Given the description of an element on the screen output the (x, y) to click on. 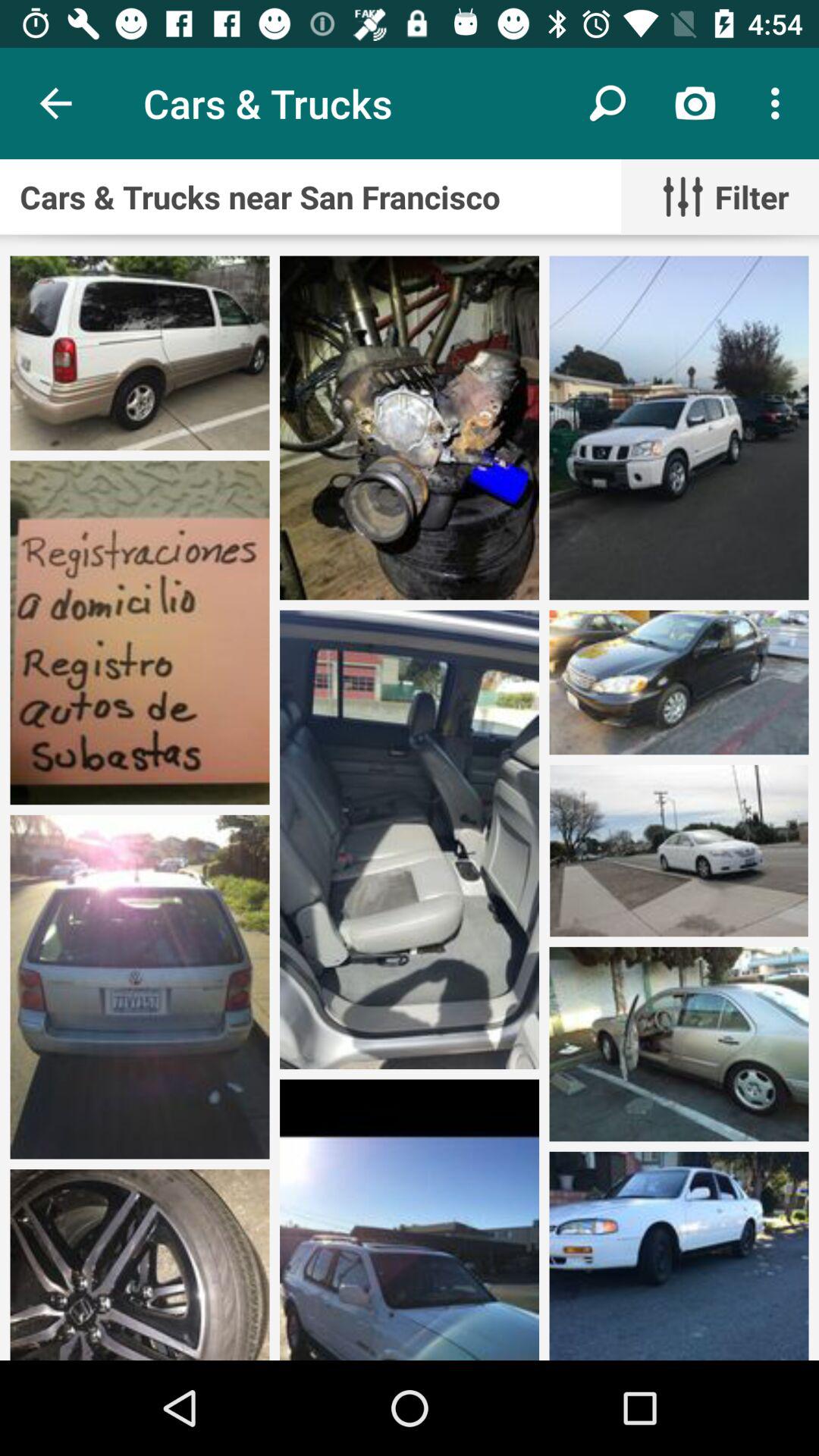
choose item above the cars trucks near icon (607, 103)
